Given the description of an element on the screen output the (x, y) to click on. 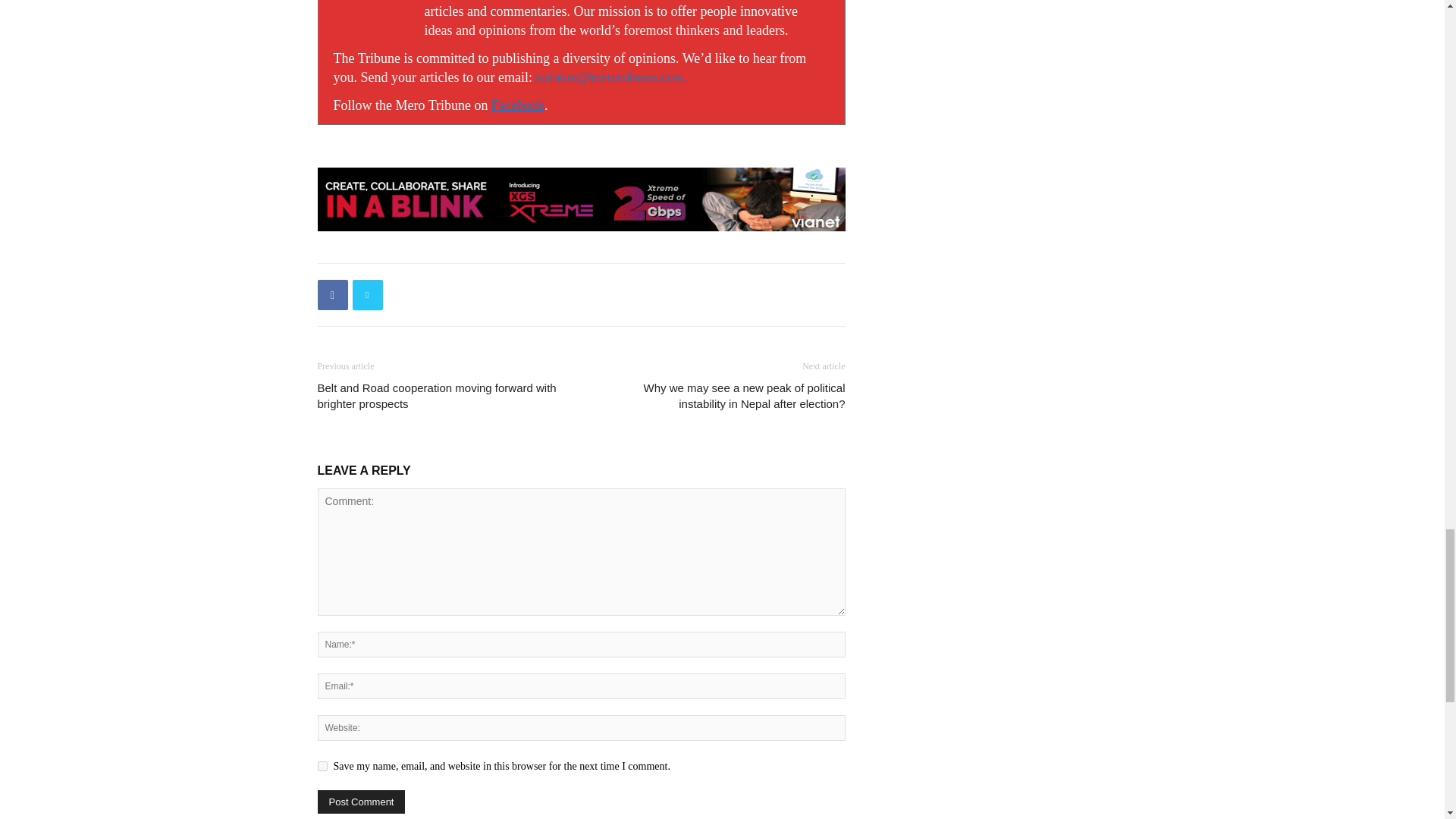
yes (321, 766)
Post Comment (360, 802)
